Given the description of an element on the screen output the (x, y) to click on. 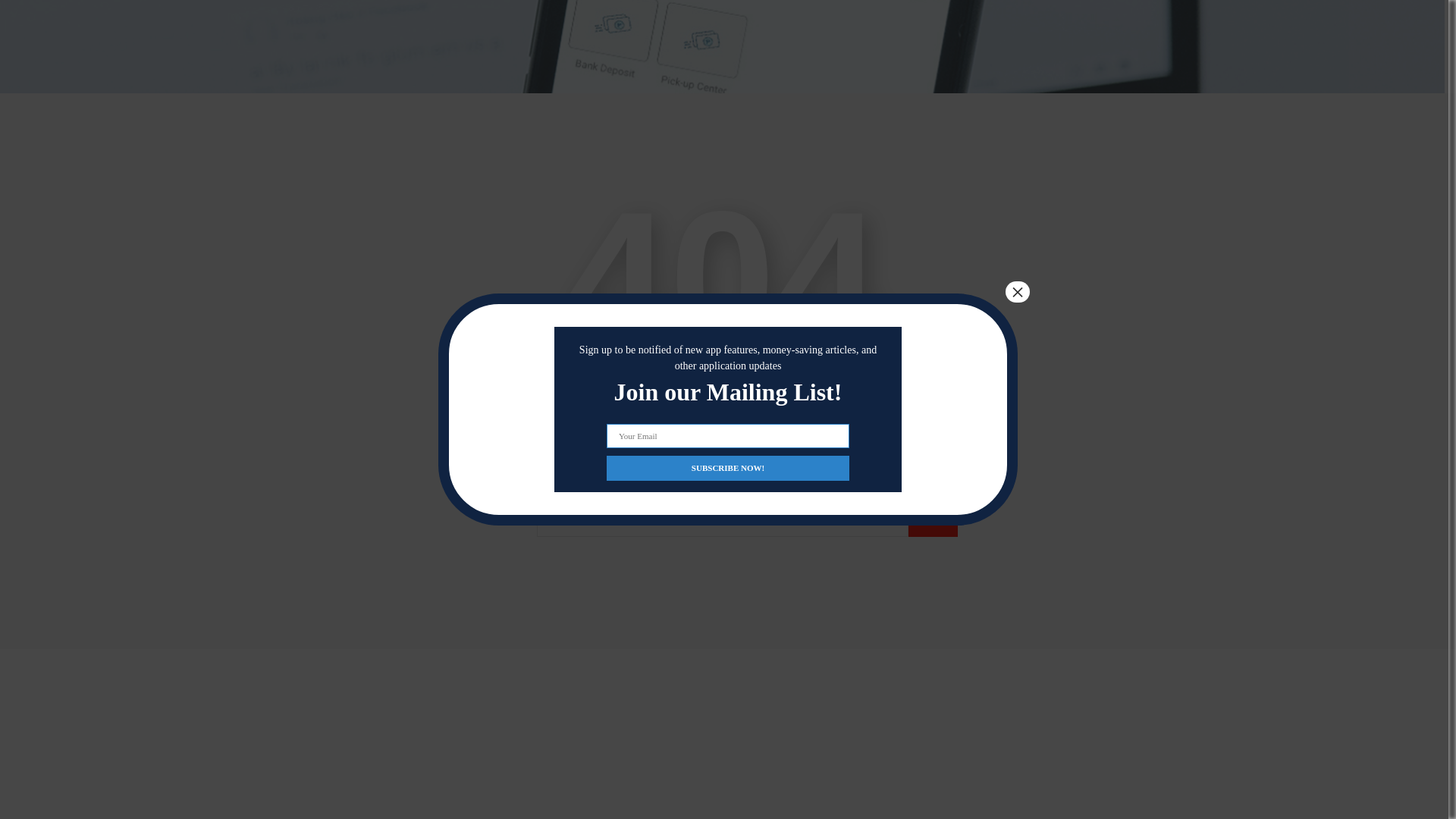
Search (933, 521)
SUBSCRIBE NOW! (727, 285)
Search (933, 521)
VISIT HOMEPAGE (722, 422)
Search (933, 521)
SUBSCRIBE NOW! (727, 285)
